Given the description of an element on the screen output the (x, y) to click on. 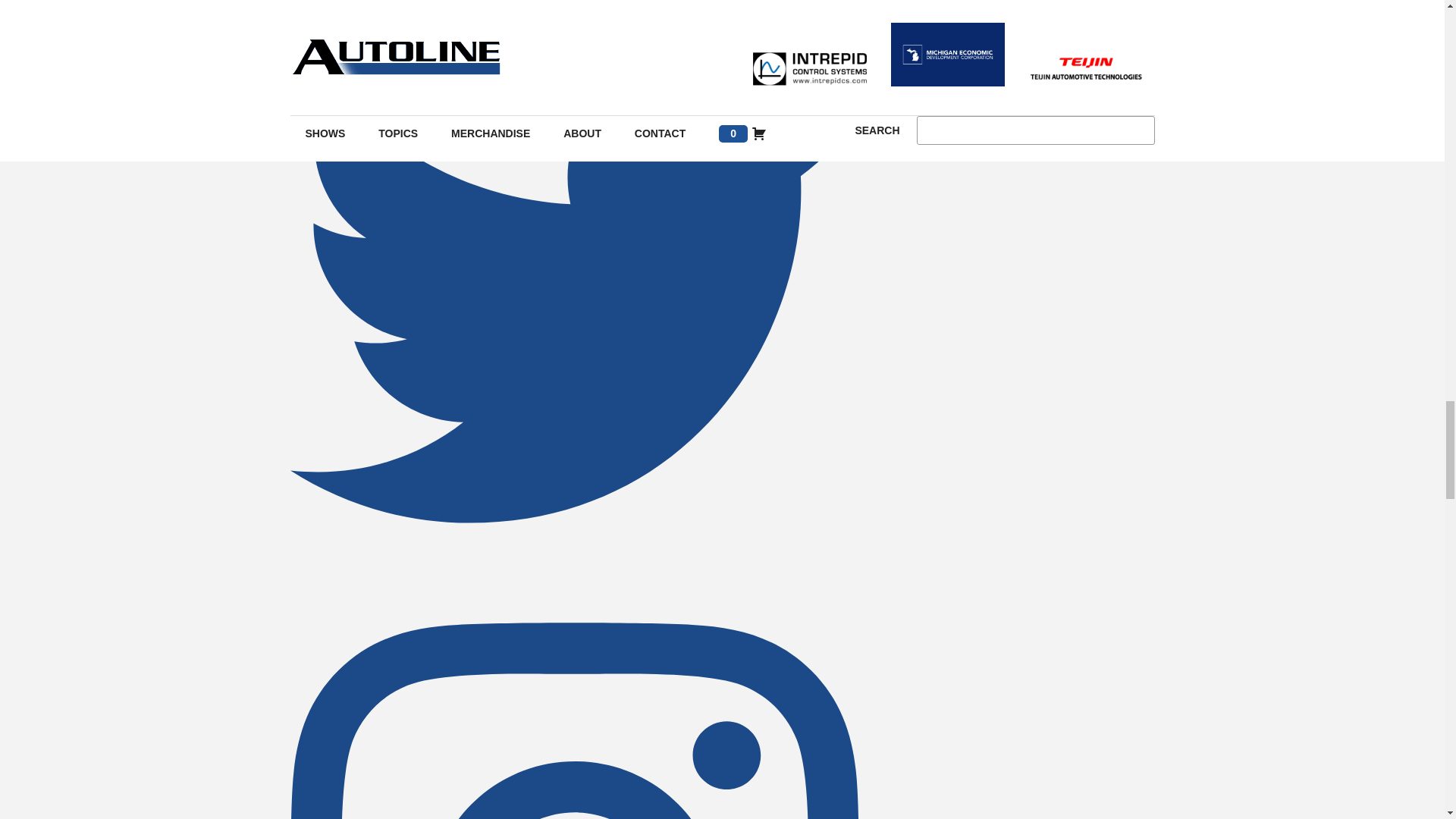
Twitter (574, 571)
